Given the description of an element on the screen output the (x, y) to click on. 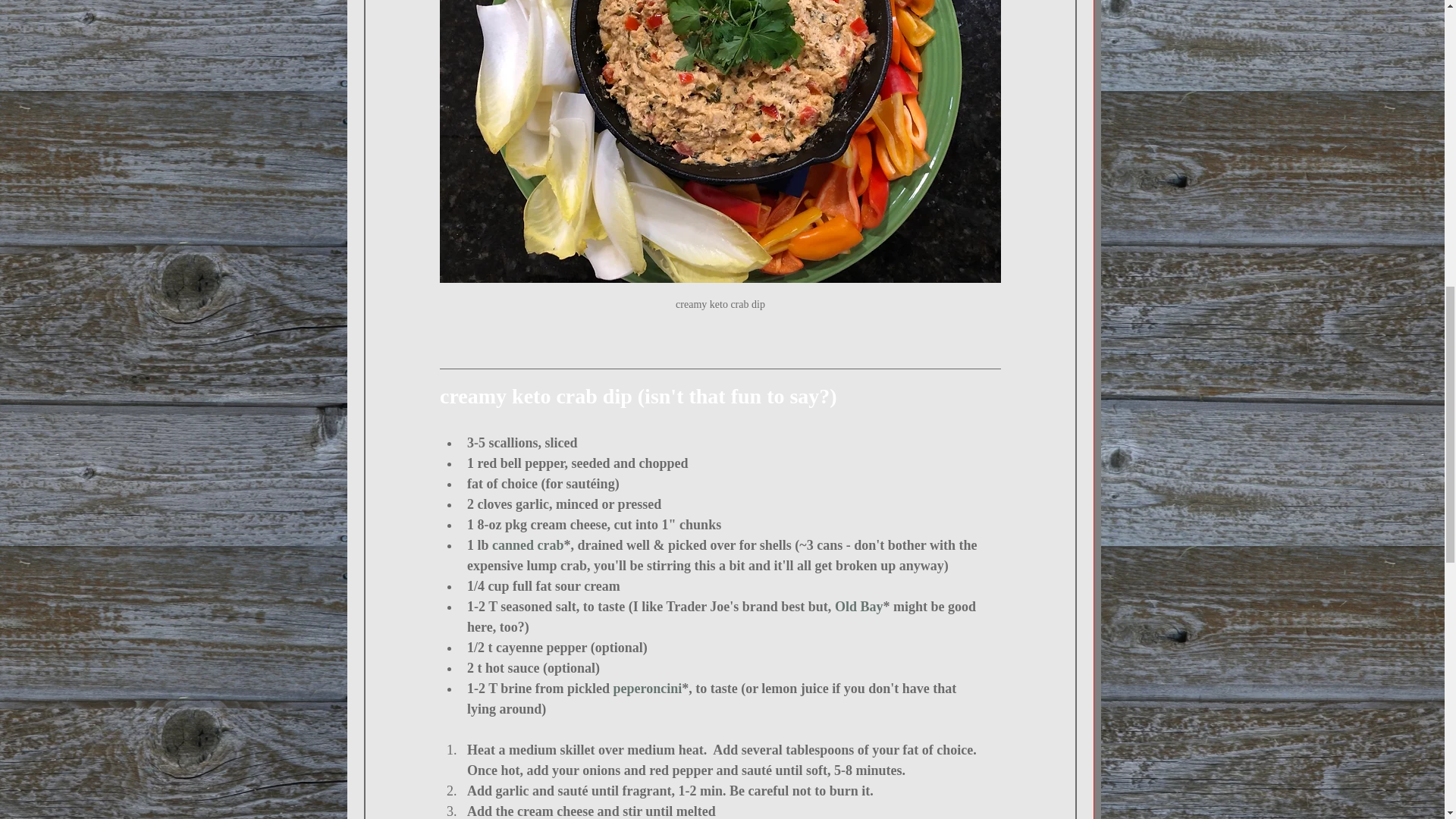
canned crab (528, 544)
peperoncini (646, 688)
Old Bay (858, 606)
